Given the description of an element on the screen output the (x, y) to click on. 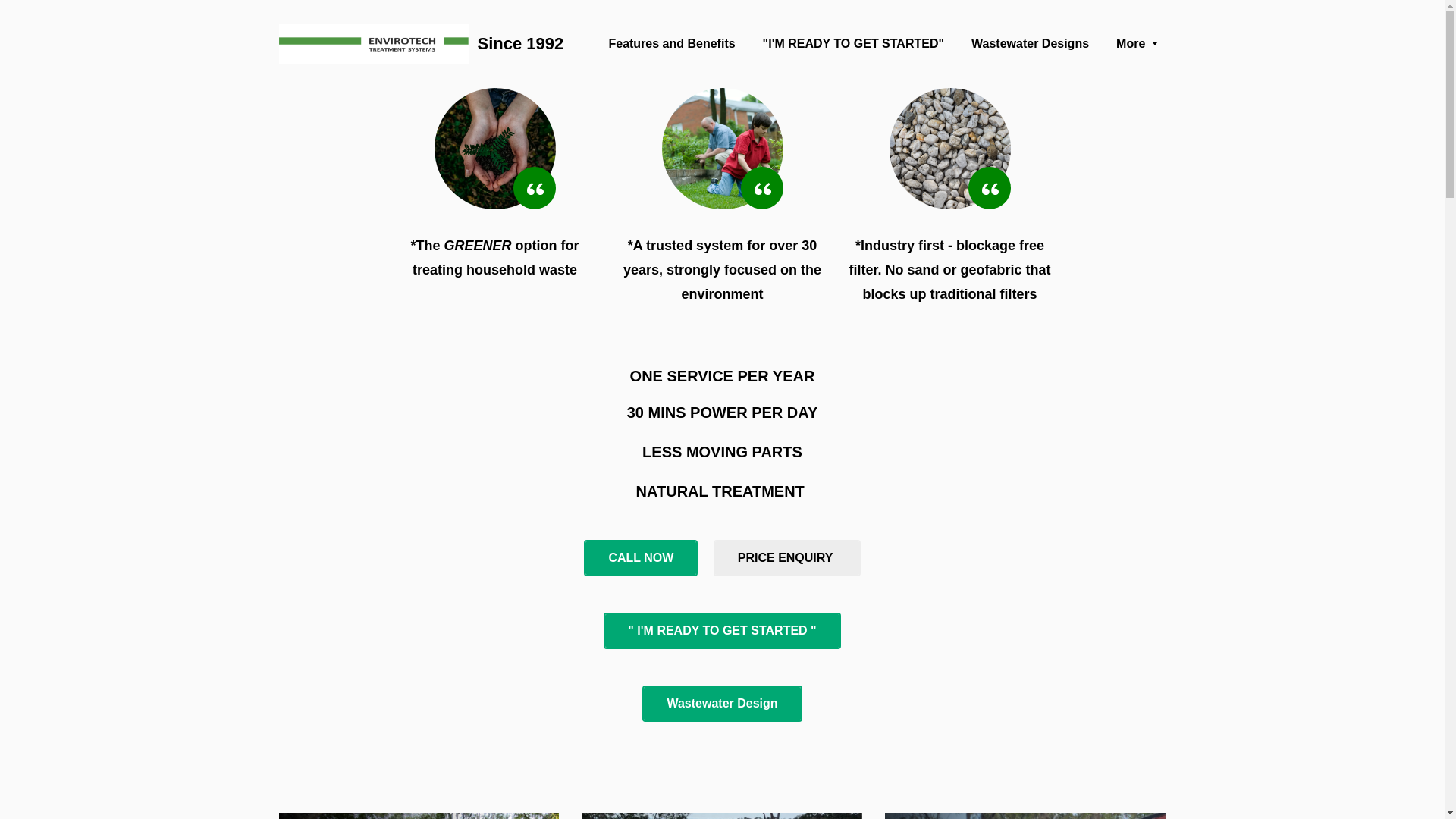
Features and Benefits Element type: text (671, 43)
More Element type: text (1136, 43)
"I'M READY TO GET STARTED" Element type: text (853, 43)
CALL NOW Element type: text (640, 557)
PRICE ENQUIRY  Element type: text (786, 557)
" I'M READY TO GET STARTED " Element type: text (721, 630)
Wastewater Design Element type: text (721, 703)
Wastewater Designs Element type: text (1029, 43)
